Given the description of an element on the screen output the (x, y) to click on. 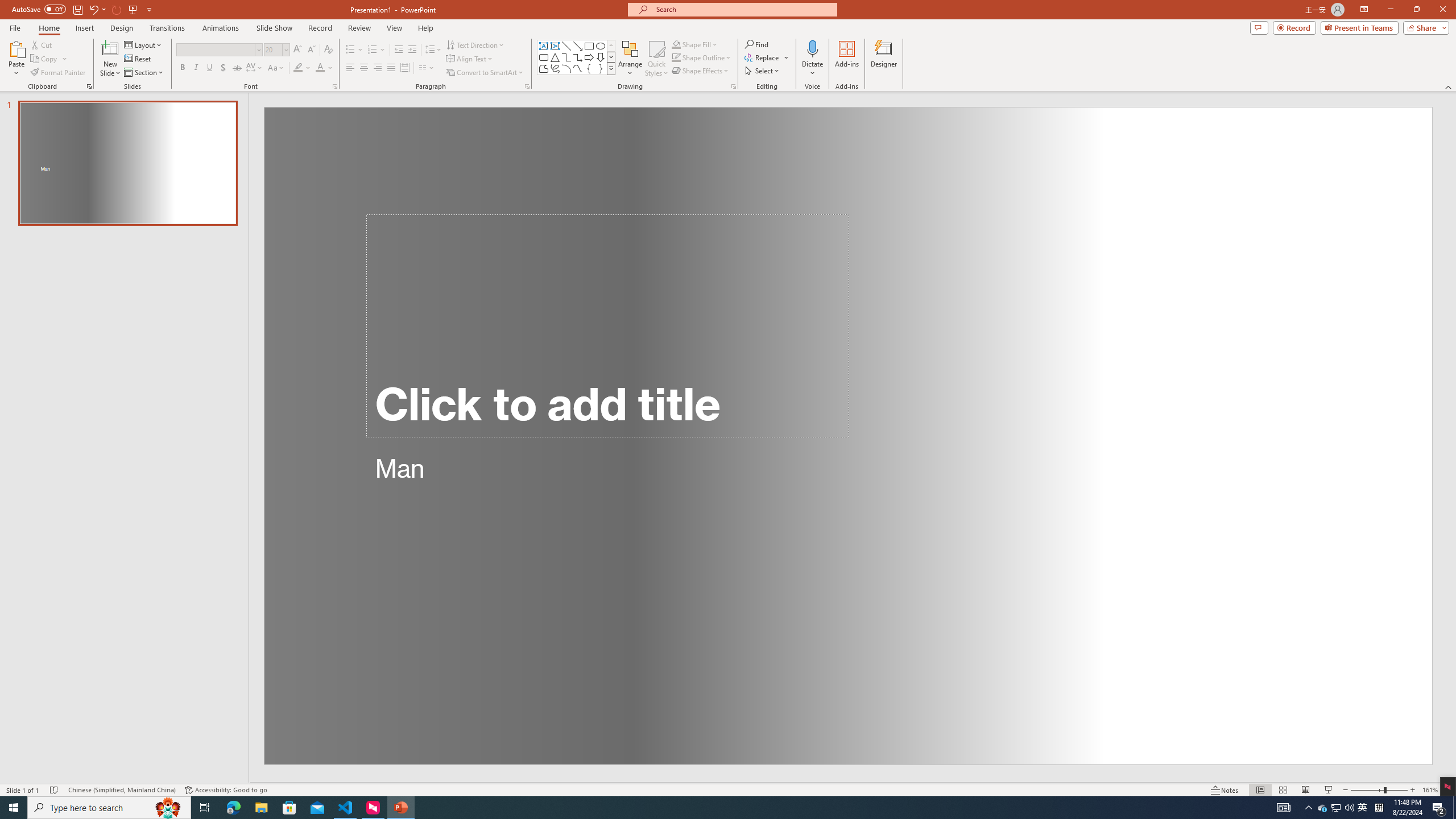
Shape Outline (701, 56)
Select (762, 69)
Restore Down (1416, 9)
Accessibility Checker Accessibility: Good to go (226, 790)
Text Direction (476, 44)
Comments (1259, 27)
Arc (566, 68)
Open (285, 49)
Designer (883, 58)
System (6, 6)
System (6, 6)
Ribbon Display Options (1364, 9)
Shape Fill Orange, Accent 2 (675, 44)
Help (425, 28)
